Given the description of an element on the screen output the (x, y) to click on. 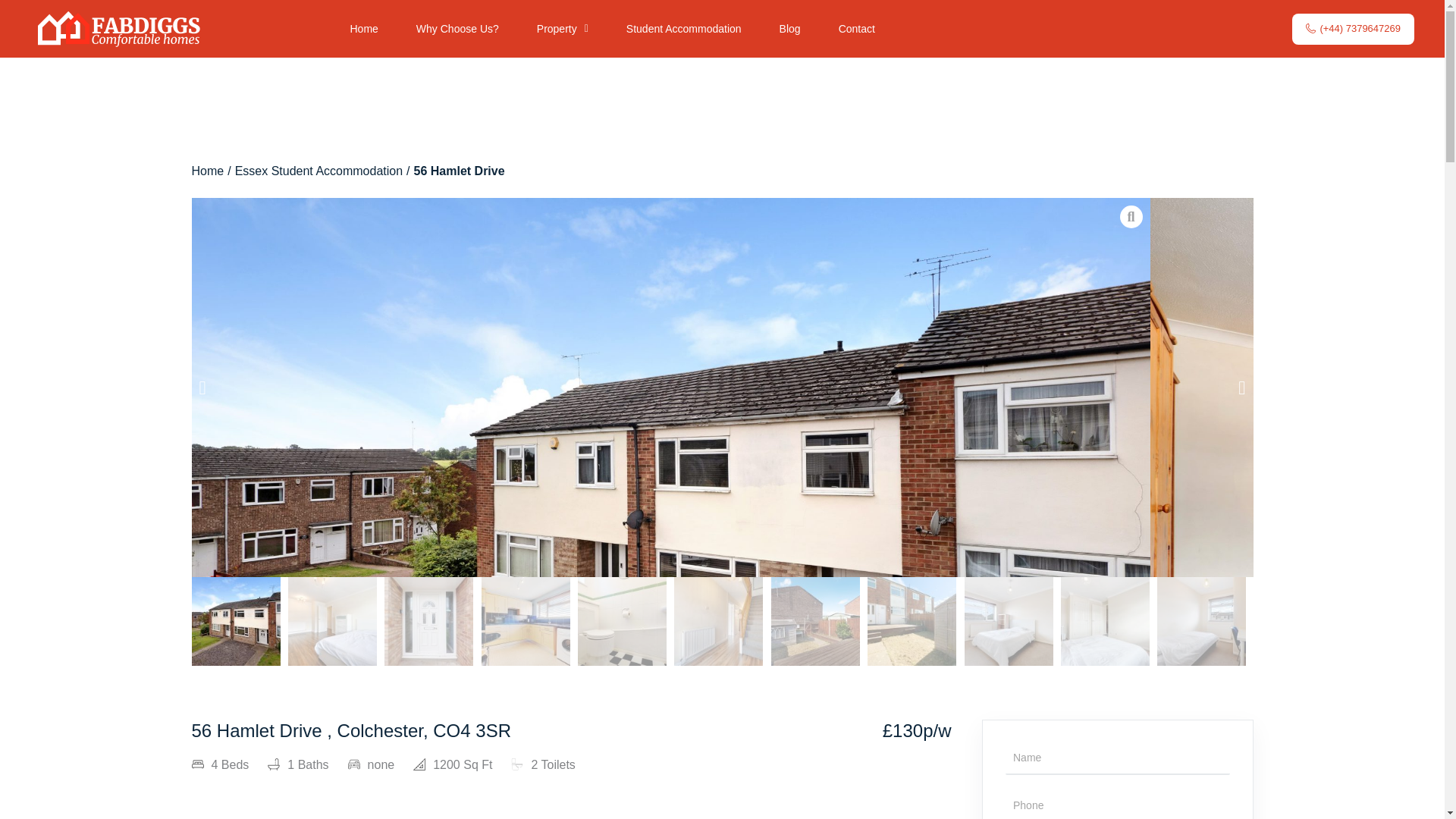
Why Choose Us? (457, 28)
Property (562, 28)
Contact (856, 28)
Student Accommodation (683, 28)
